Given the description of an element on the screen output the (x, y) to click on. 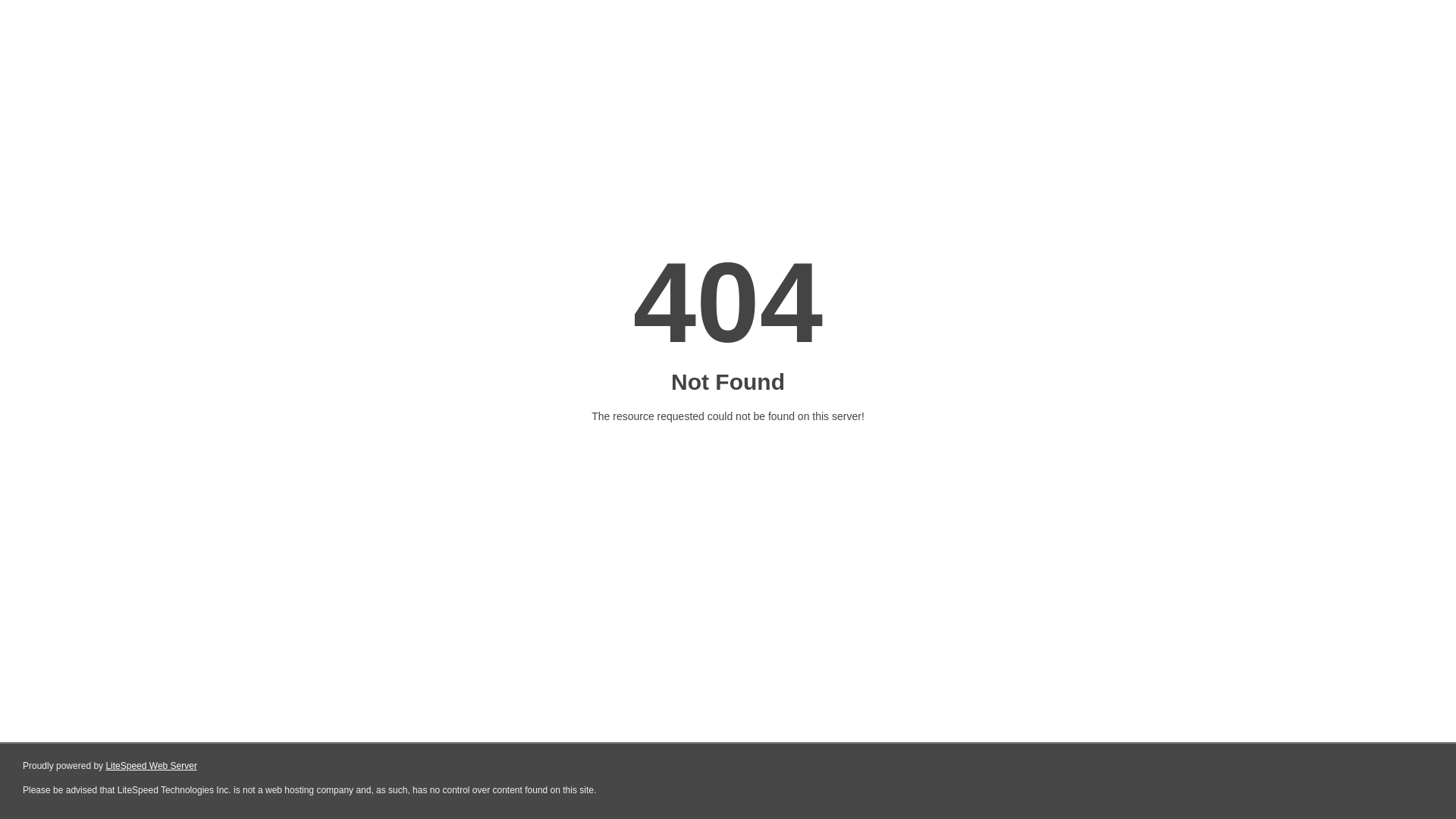
LiteSpeed Web Server Element type: text (151, 765)
